Given the description of an element on the screen output the (x, y) to click on. 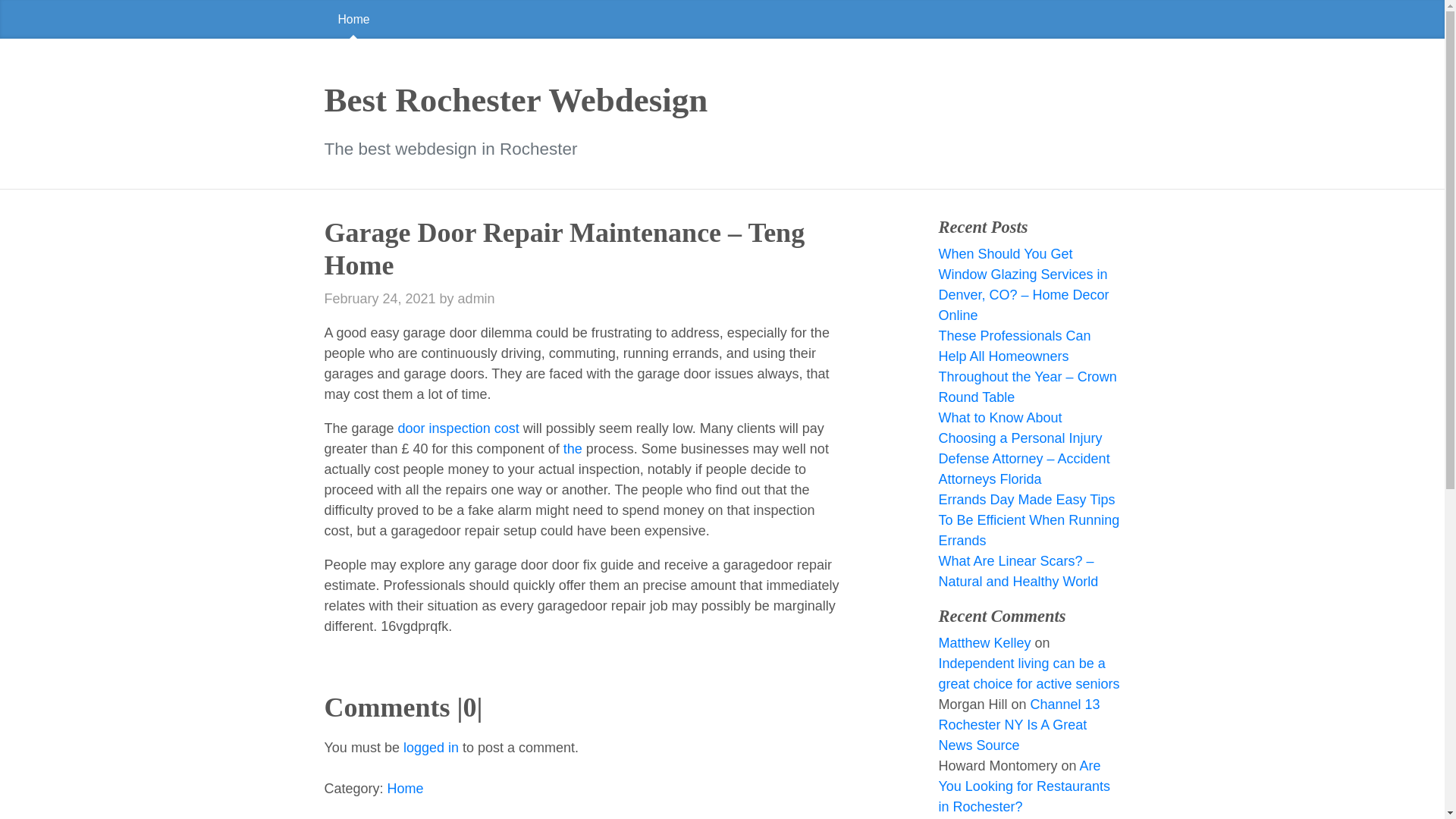
Independent living can be a great choice for active seniors (1028, 673)
the (572, 448)
Channel 13 Rochester NY Is A Great News Source (1018, 724)
Are You Looking for Restaurants in Rochester? (1023, 786)
Matthew Kelley (983, 642)
Home (354, 19)
Home (722, 19)
logged in (430, 747)
Home (405, 788)
door inspection cost (459, 427)
